Given the description of an element on the screen output the (x, y) to click on. 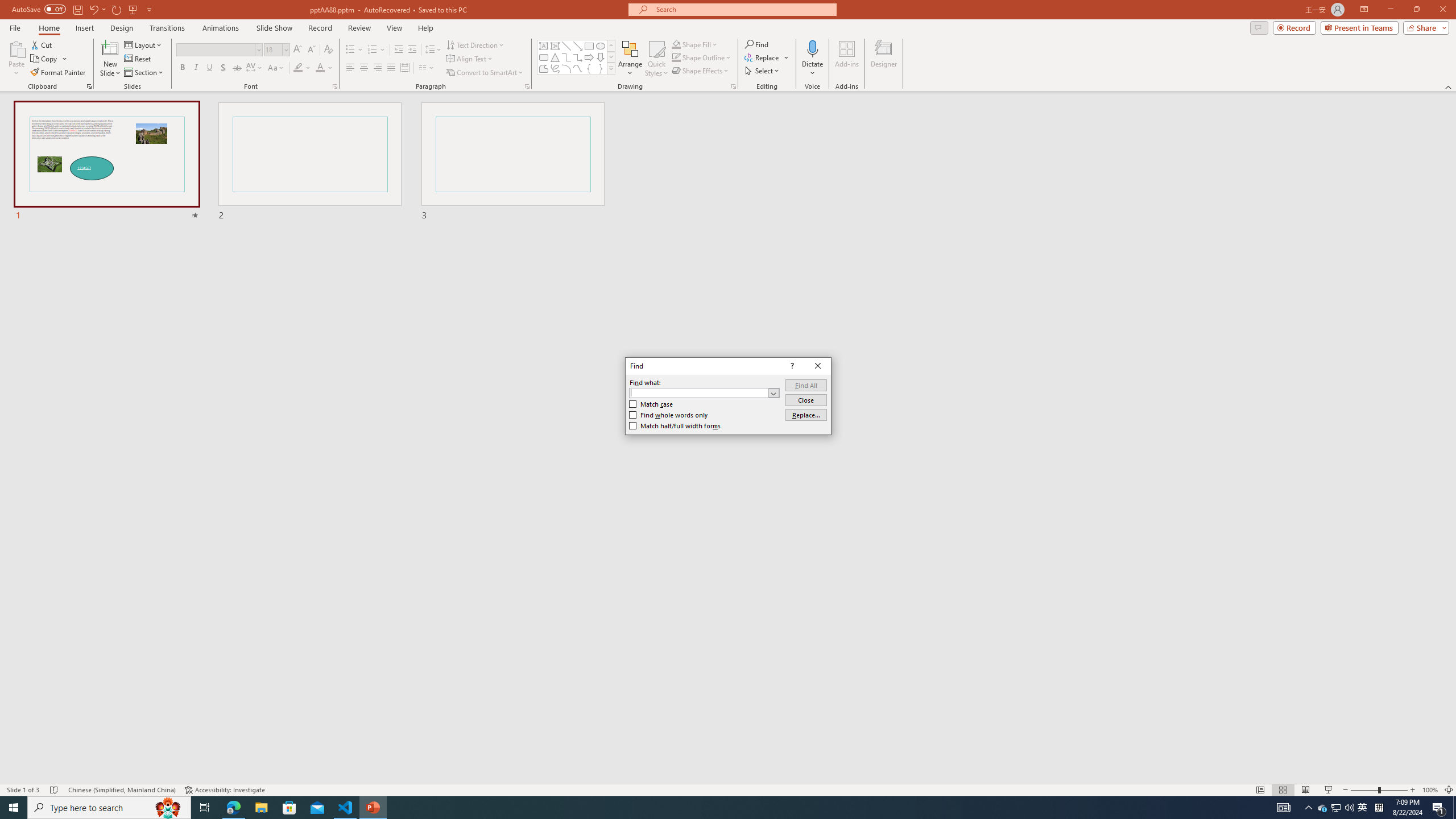
Find what (704, 393)
Find what (698, 392)
